Given the description of an element on the screen output the (x, y) to click on. 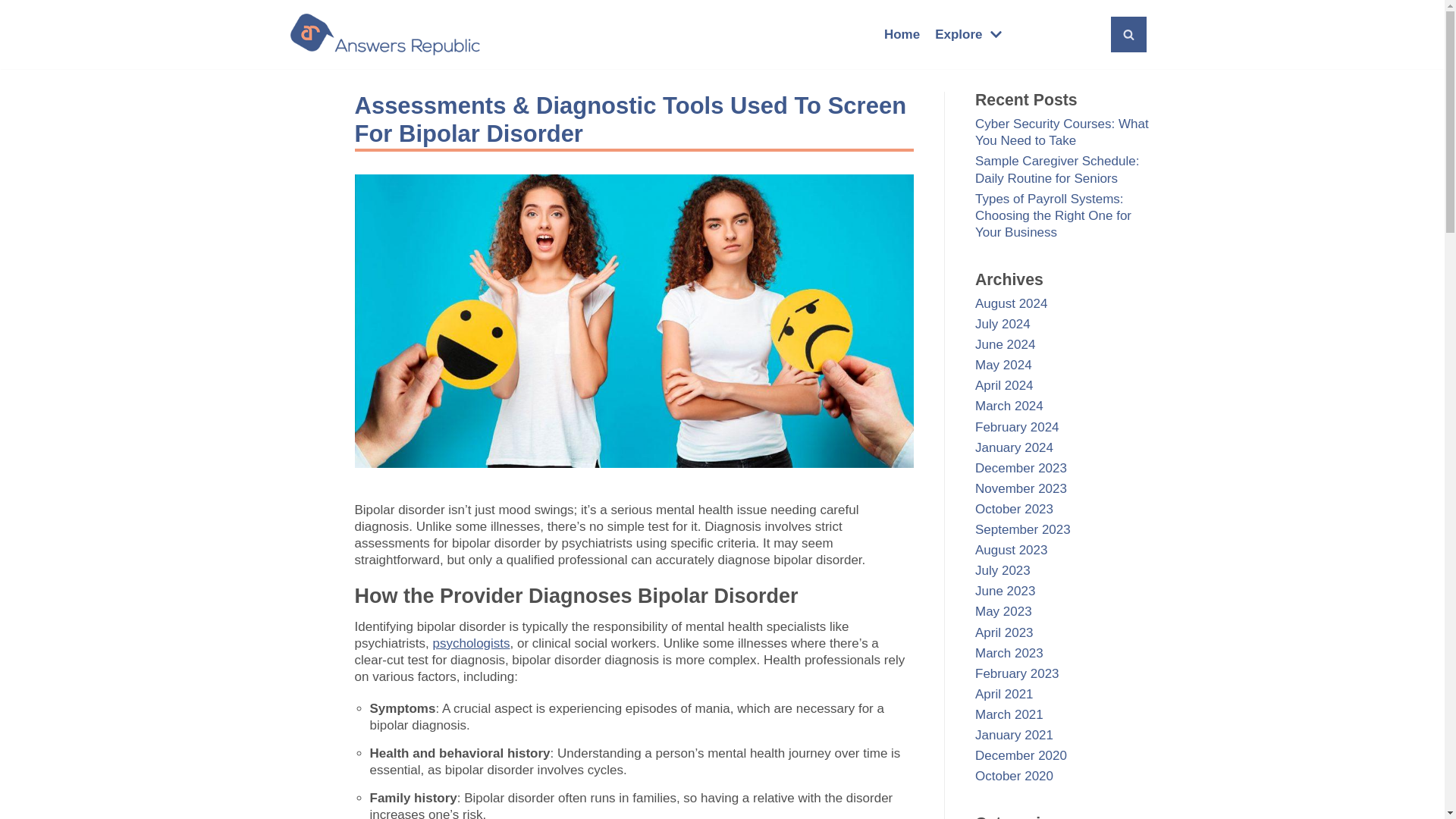
Answers Republic (384, 34)
Home (901, 34)
May 2024 (1003, 364)
June 2024 (1005, 344)
Explore (970, 34)
July 2024 (1002, 323)
Cyber Security Courses: What You Need to Take (1061, 132)
Skip to content (15, 7)
March 2024 (1009, 405)
